Given the description of an element on the screen output the (x, y) to click on. 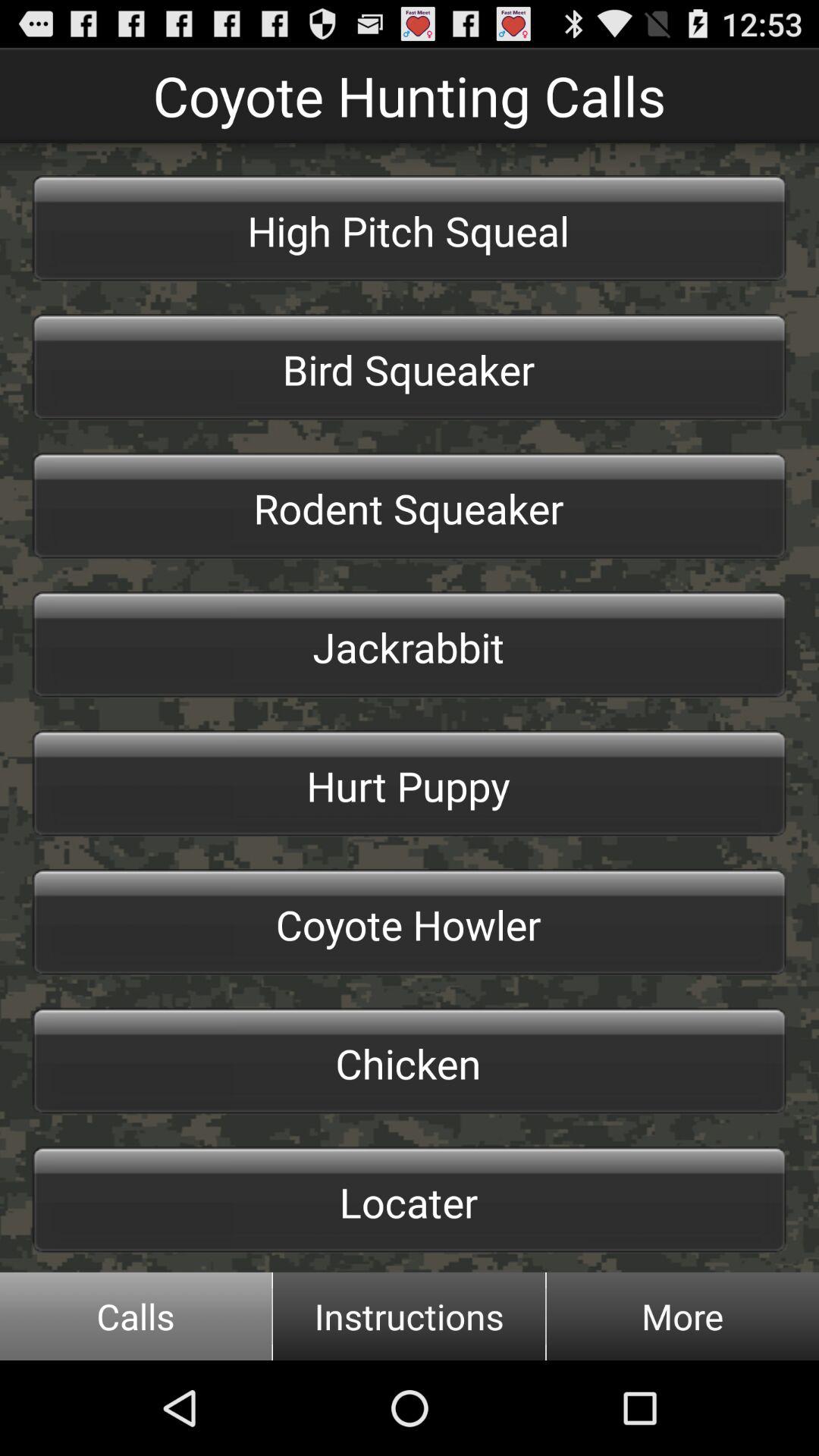
flip to the hurt puppy item (409, 783)
